Given the description of an element on the screen output the (x, y) to click on. 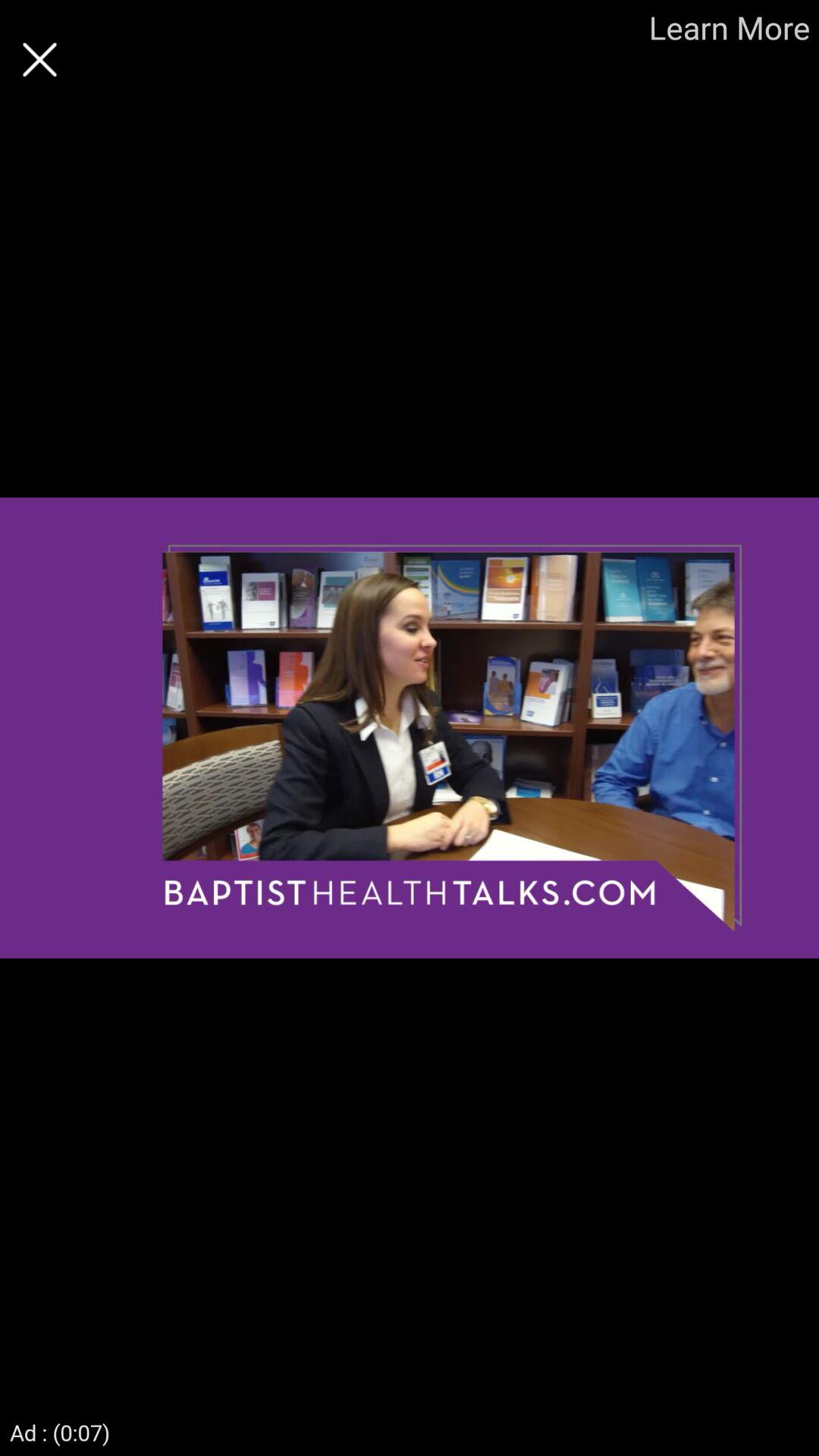
close the page (39, 59)
